Given the description of an element on the screen output the (x, y) to click on. 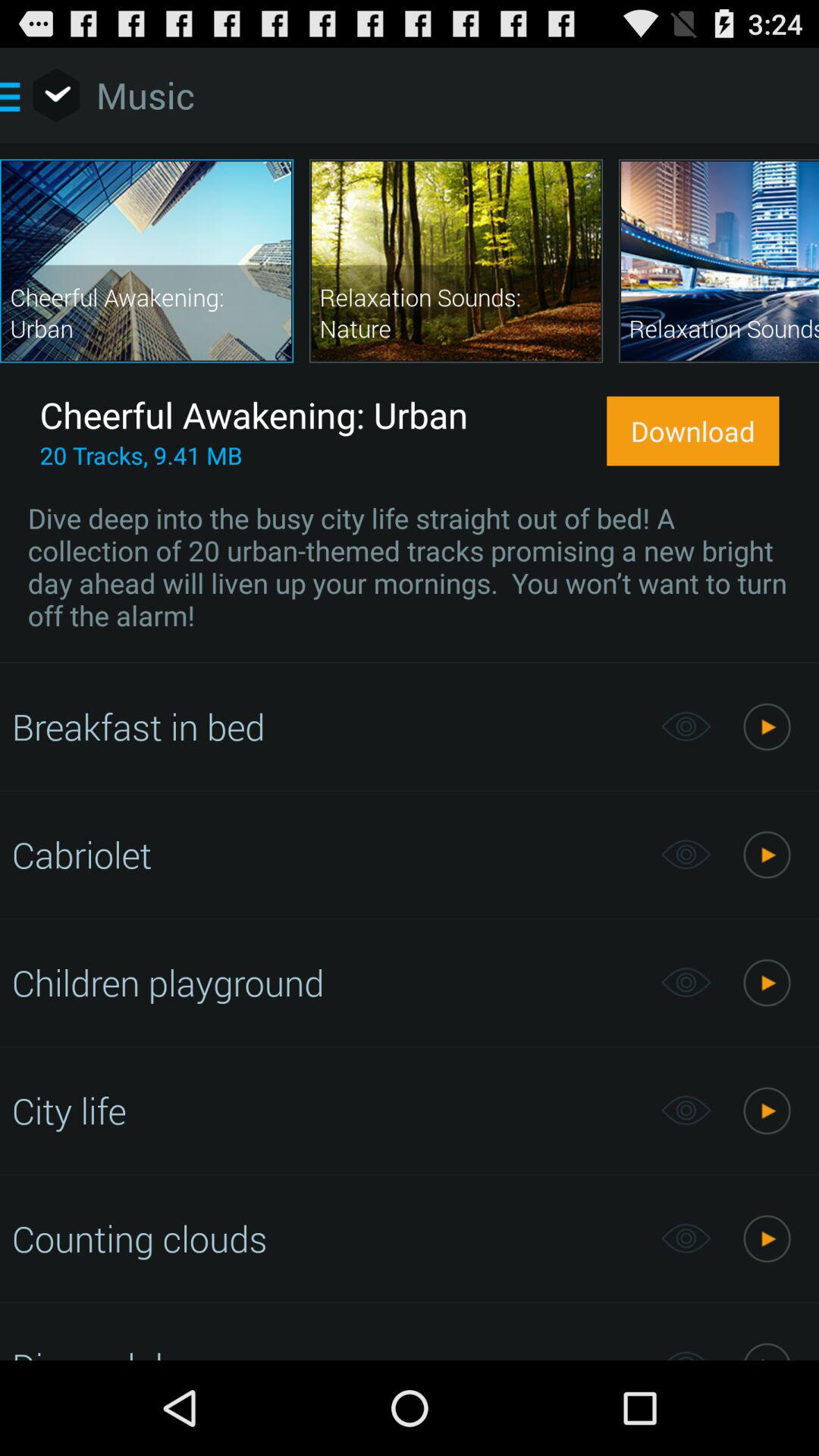
scroll until the breakfast in bed (327, 726)
